Given the description of an element on the screen output the (x, y) to click on. 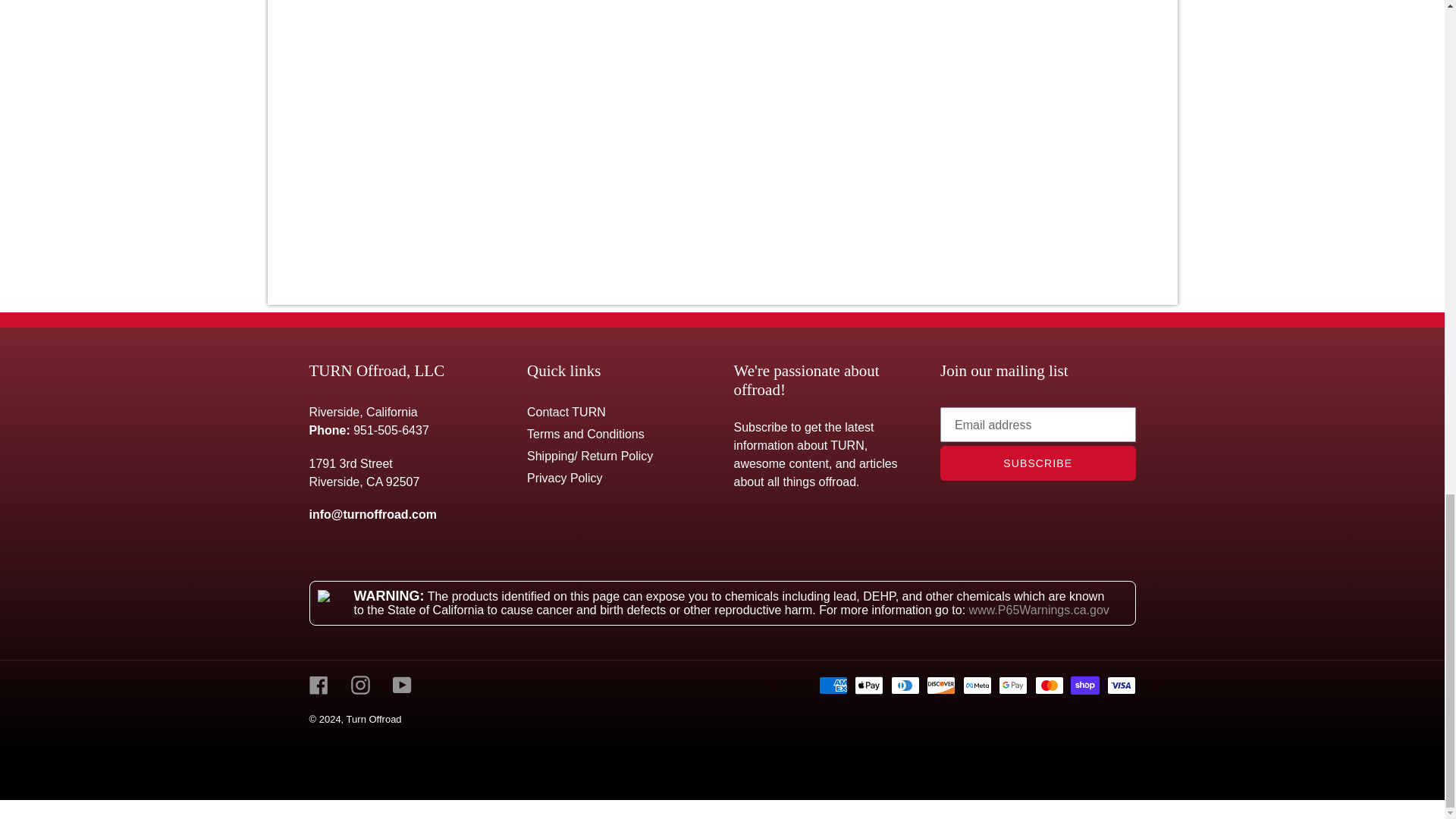
Meta Pay (976, 685)
Diners Club (905, 685)
Apple Pay (868, 685)
Google Pay (1012, 685)
American Express (832, 685)
Shop Pay (1084, 685)
Visa (1120, 685)
Discover (940, 685)
Mastercard (1049, 685)
